Given the description of an element on the screen output the (x, y) to click on. 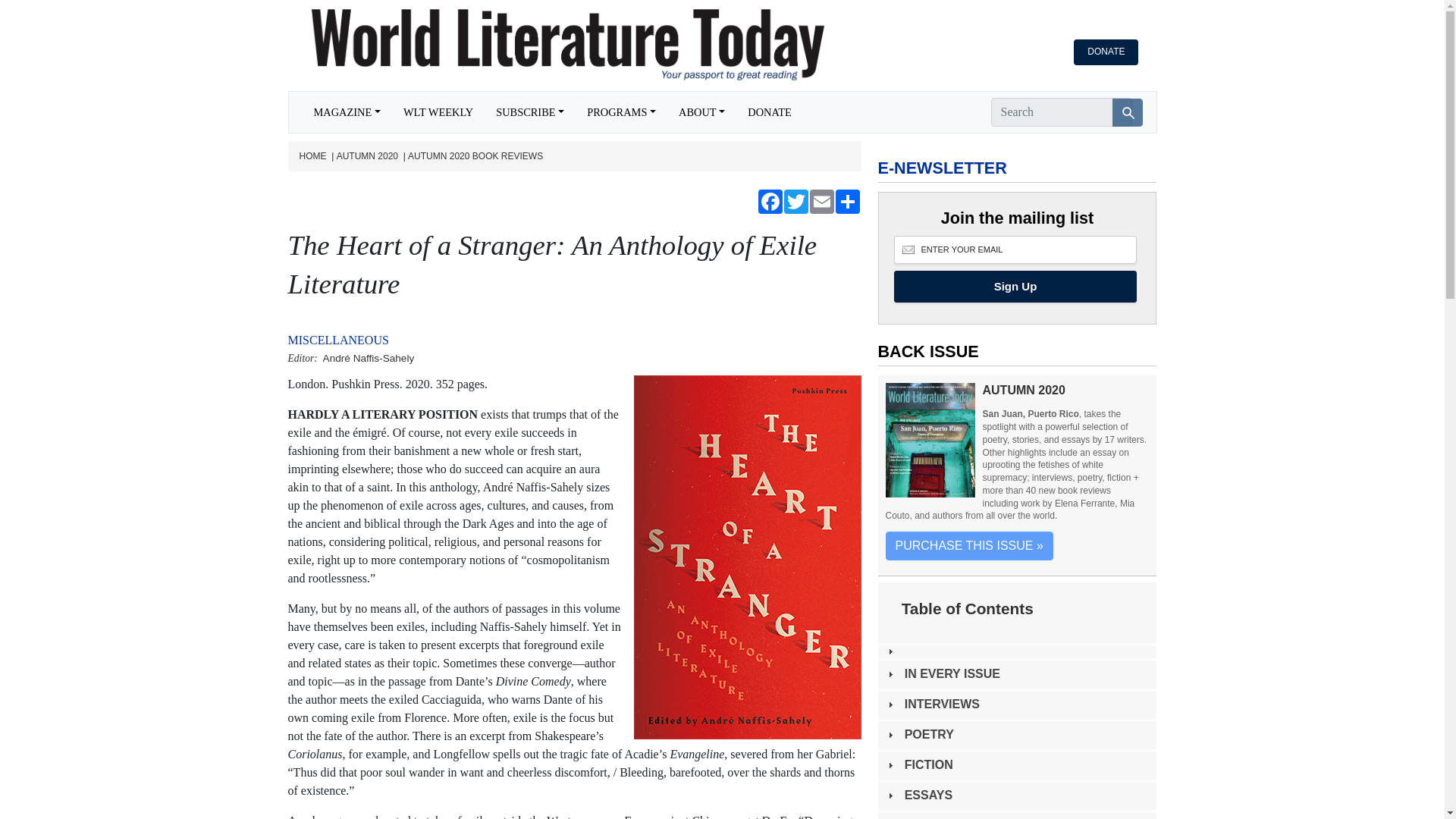
AUTUMN 2020 (366, 156)
SUBSCRIBE (529, 111)
Search (1126, 112)
MAGAZINE (346, 111)
DONATE (769, 111)
AUTUMN 2020 BOOK REVIEWS (475, 156)
Expand menu Subscribe (529, 111)
HOME (312, 156)
Expand menu Programs (620, 111)
Expand menu Magazine (346, 111)
ENTER YOUR EMAIL (1015, 249)
DONATE (1106, 52)
Home (554, 45)
WLT WEEKLY (437, 111)
ABOUT (701, 111)
